Given the description of an element on the screen output the (x, y) to click on. 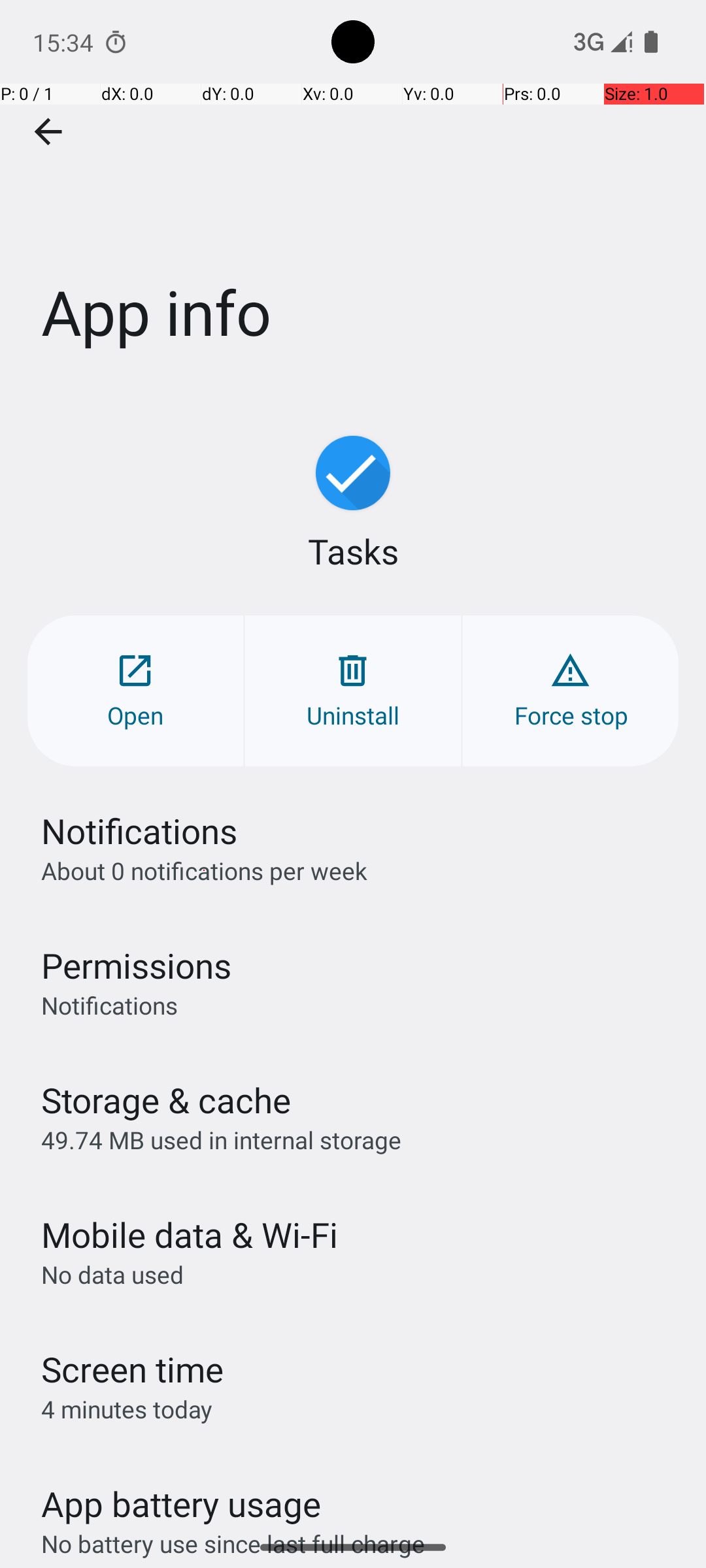
49.74 MB used in internal storage Element type: android.widget.TextView (221, 1139)
4 minutes today Element type: android.widget.TextView (127, 1408)
